Given the description of an element on the screen output the (x, y) to click on. 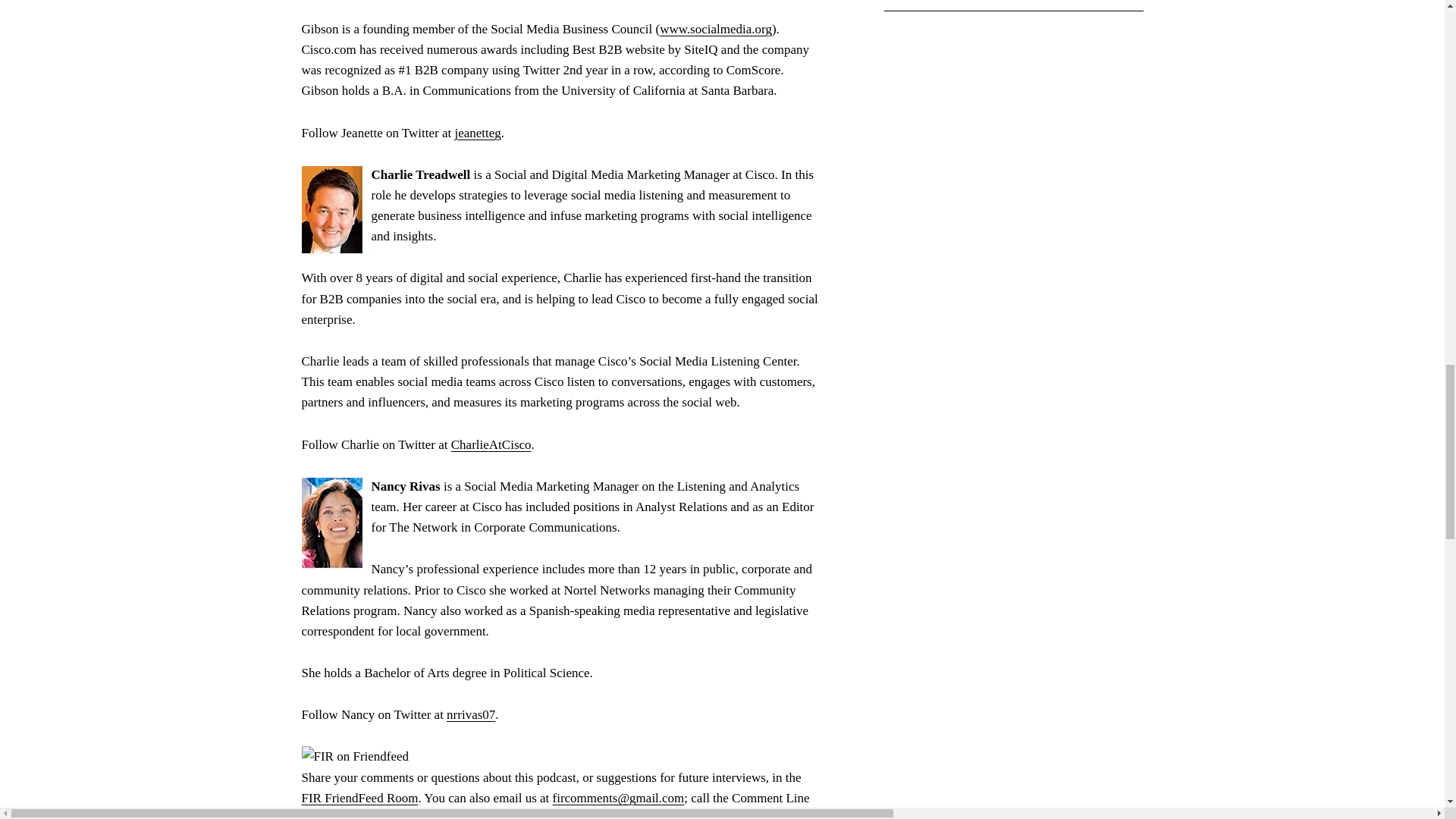
CharlieAtCisco (491, 444)
jeanetteg (477, 133)
nrrivas07 (470, 714)
www.socialmedia.org (715, 29)
